Given the description of an element on the screen output the (x, y) to click on. 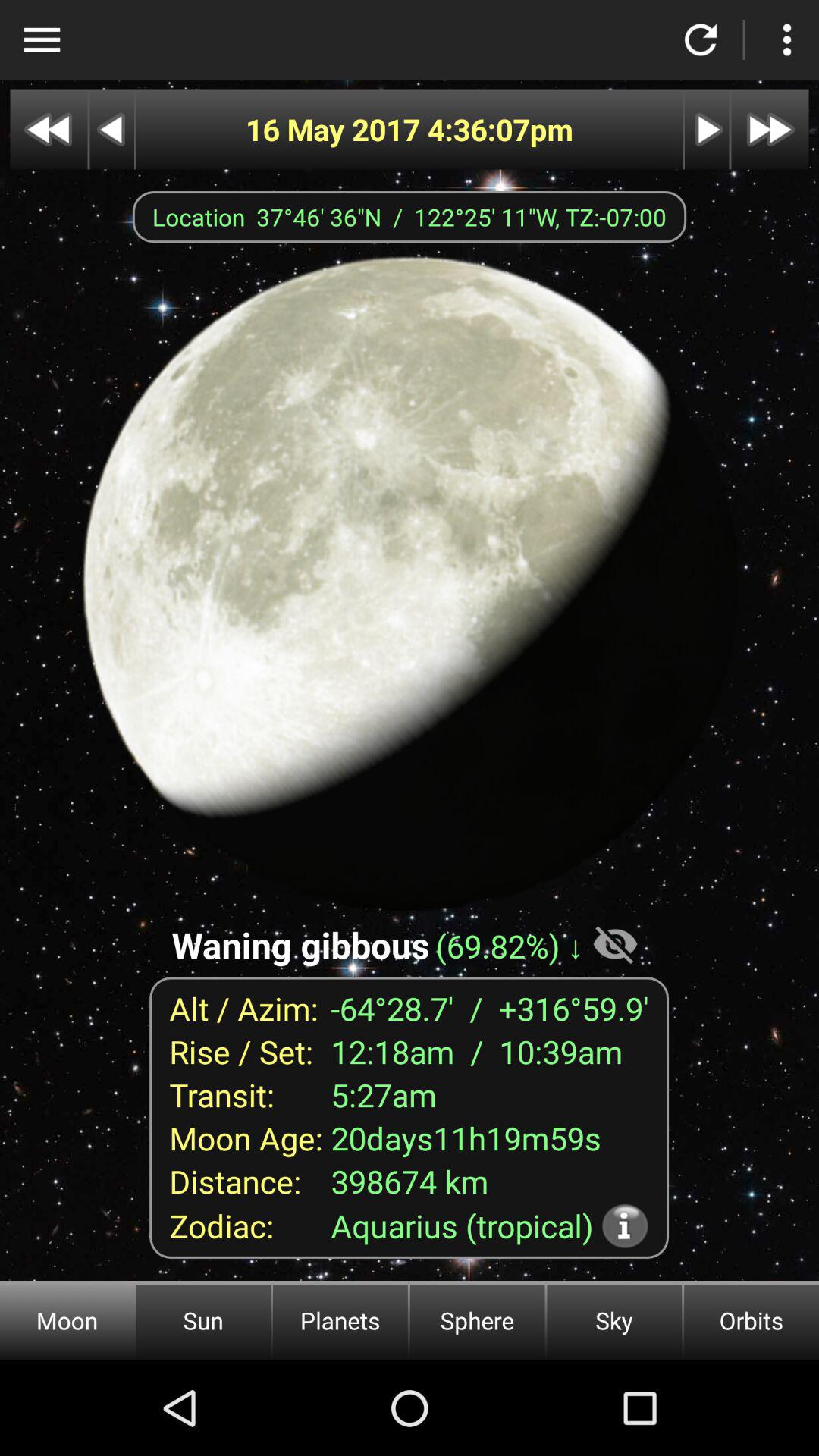
press the icon below 398674 km (624, 1225)
